Given the description of an element on the screen output the (x, y) to click on. 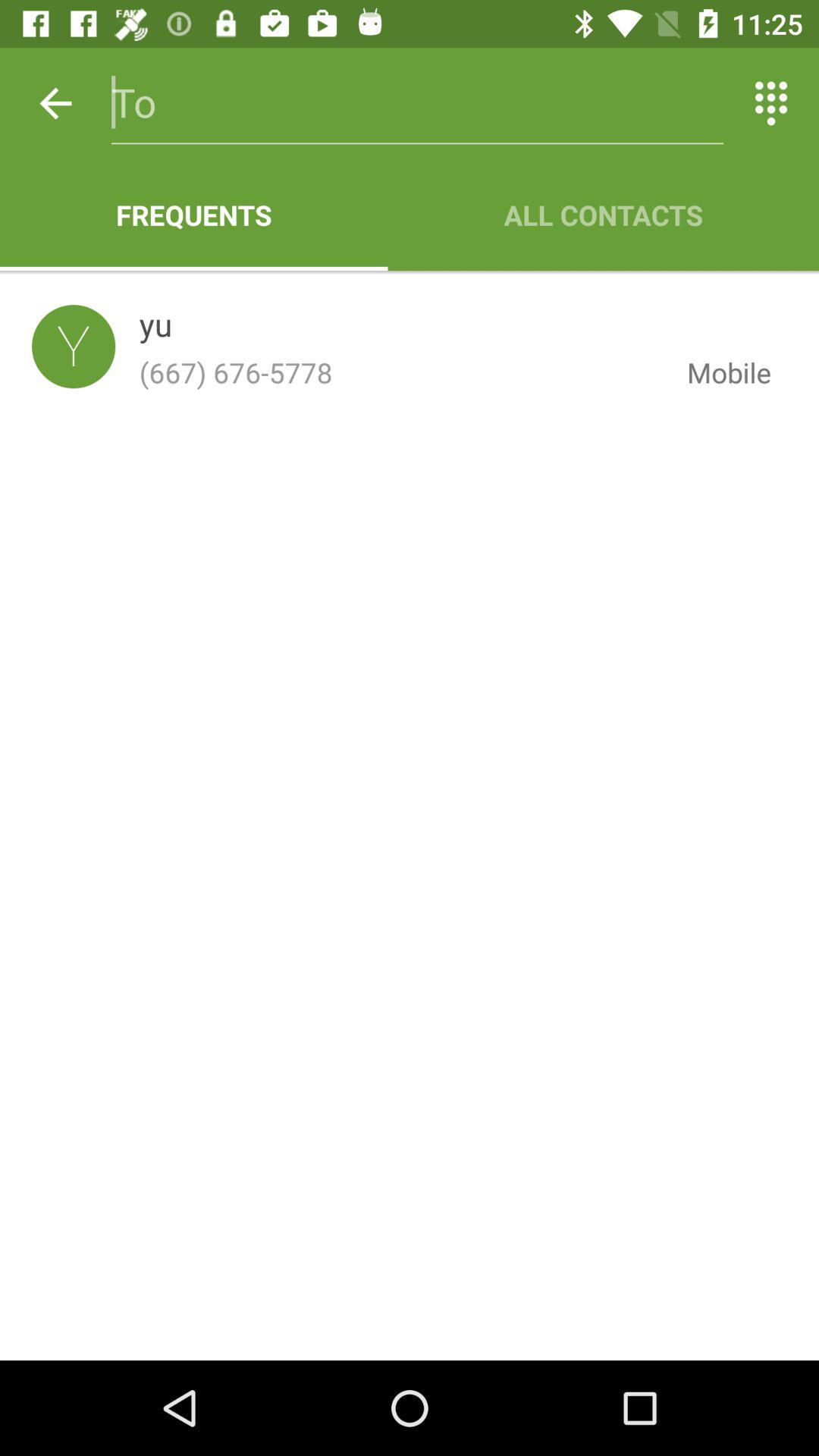
flip until (667) 676-5778 (401, 372)
